Given the description of an element on the screen output the (x, y) to click on. 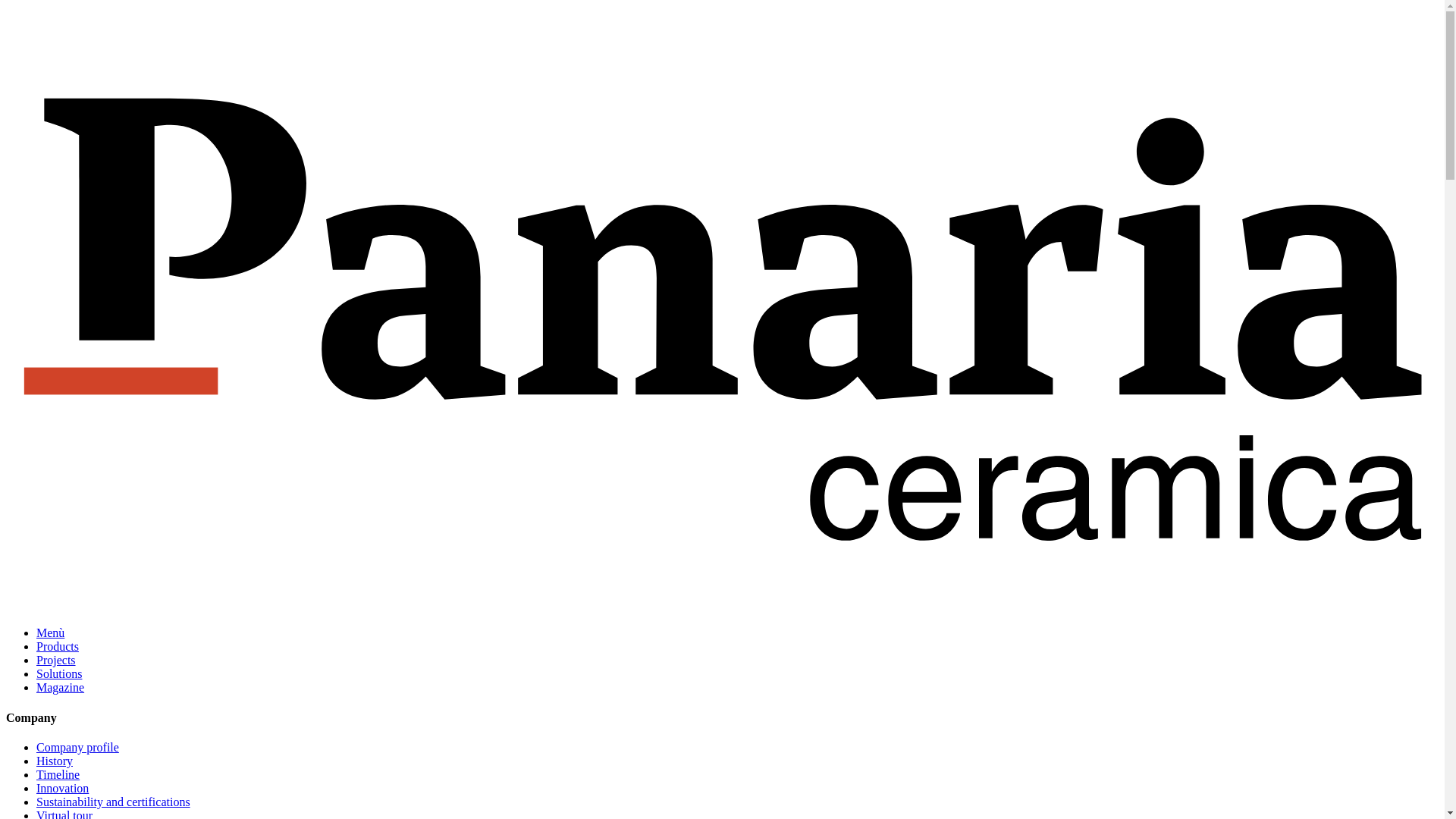
Innovation (62, 788)
History (54, 760)
Timeline (58, 774)
Projects (55, 659)
Magazine (60, 686)
Virtual tour (64, 814)
Products (57, 645)
Solutions (58, 673)
Company profile (77, 747)
Sustainability and certifications (113, 801)
